Given the description of an element on the screen output the (x, y) to click on. 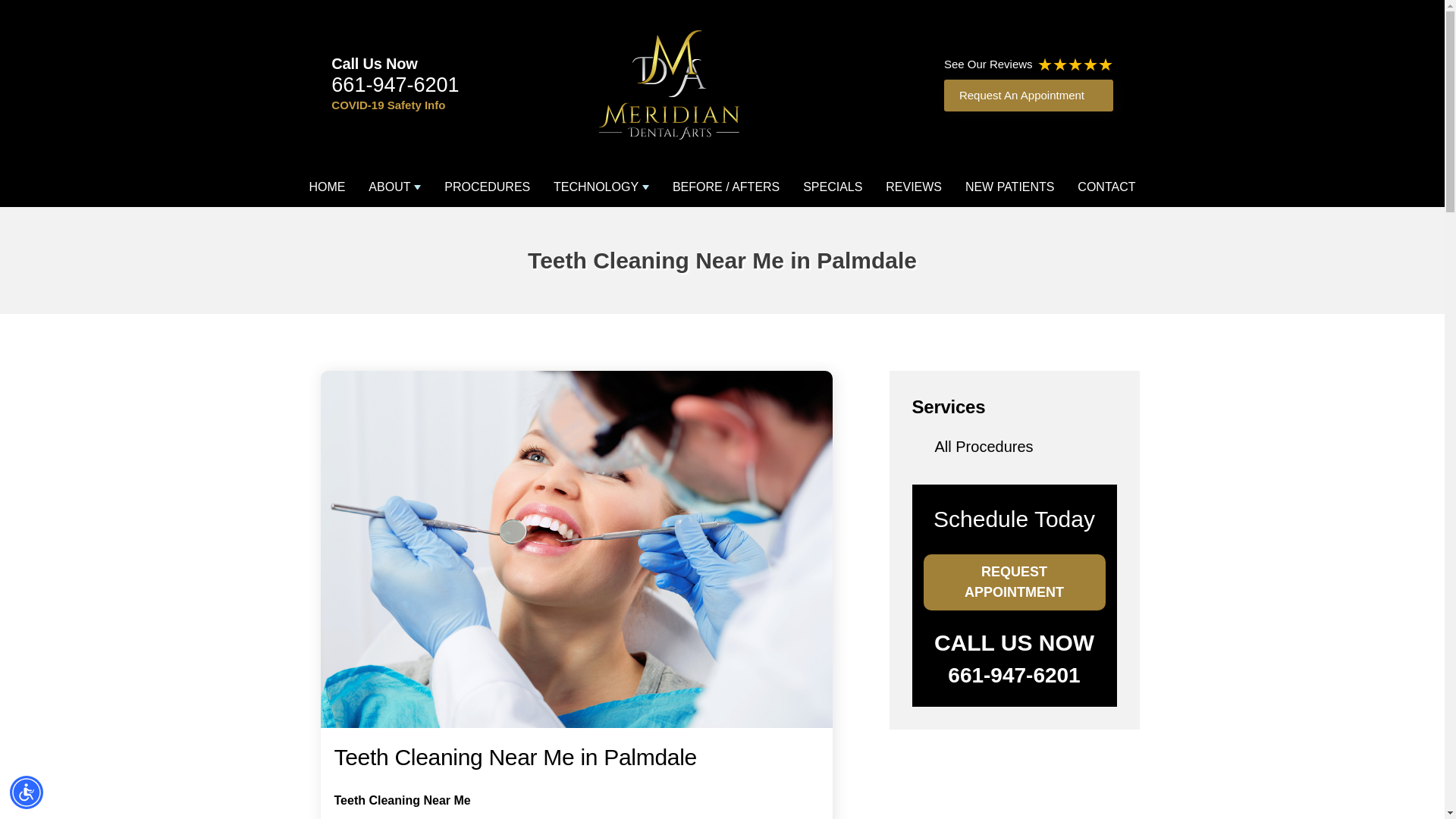
Accessibility Menu (26, 792)
Request An Appointment (1028, 95)
661-947-6201 (1013, 675)
NEW PATIENTS (1009, 186)
661-947-6201 (394, 84)
ABOUT (394, 186)
SPECIALS (832, 186)
CONTACT (1106, 186)
REVIEWS (913, 186)
REQUEST APPOINTMENT (1014, 582)
PROCEDURES (486, 186)
COVID-19 Safety Info (388, 102)
See Our Reviews (1028, 65)
TECHNOLOGY (601, 186)
All Procedures (983, 446)
